Given the description of an element on the screen output the (x, y) to click on. 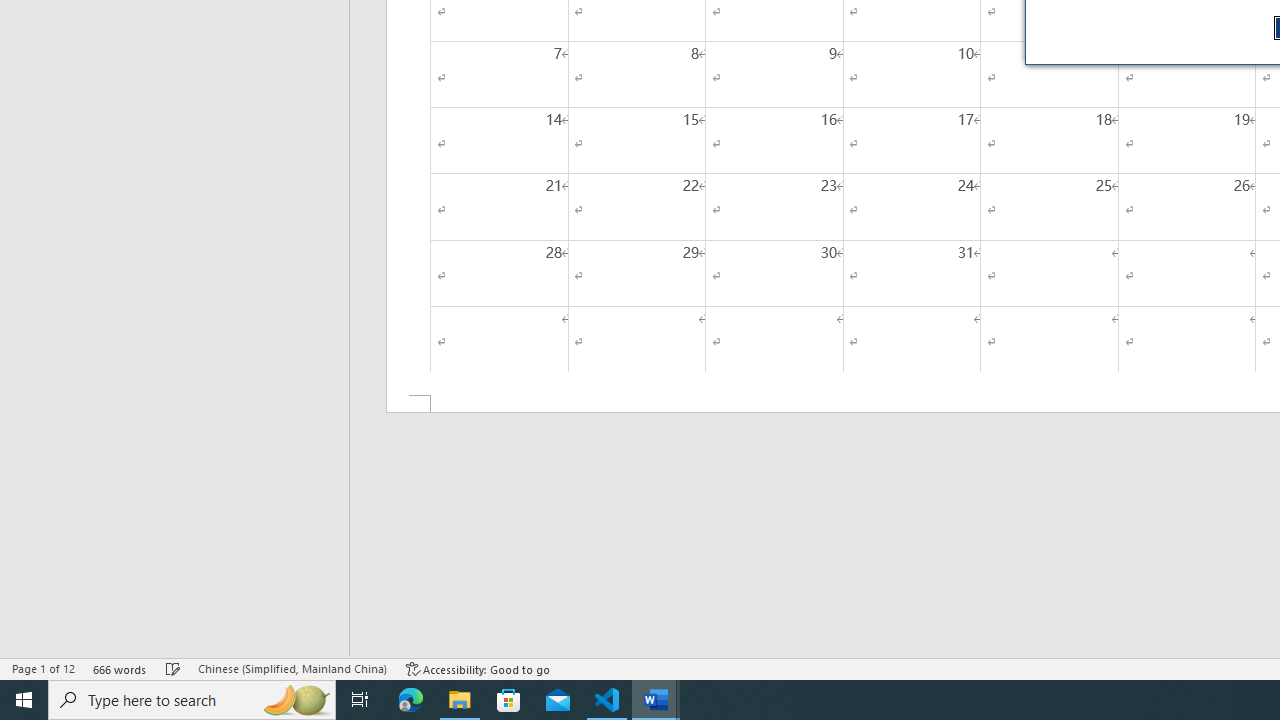
Microsoft Edge (411, 699)
Page Number Page 1 of 12 (43, 668)
Type here to search (191, 699)
Language Chinese (Simplified, Mainland China) (292, 668)
Word - 2 running windows (656, 699)
Microsoft Store (509, 699)
Search highlights icon opens search home window (295, 699)
Spelling and Grammar Check Checking (173, 668)
Accessibility Checker Accessibility: Good to go (478, 668)
Visual Studio Code - 1 running window (607, 699)
Task View (359, 699)
File Explorer - 1 running window (460, 699)
Start (24, 699)
